Given the description of an element on the screen output the (x, y) to click on. 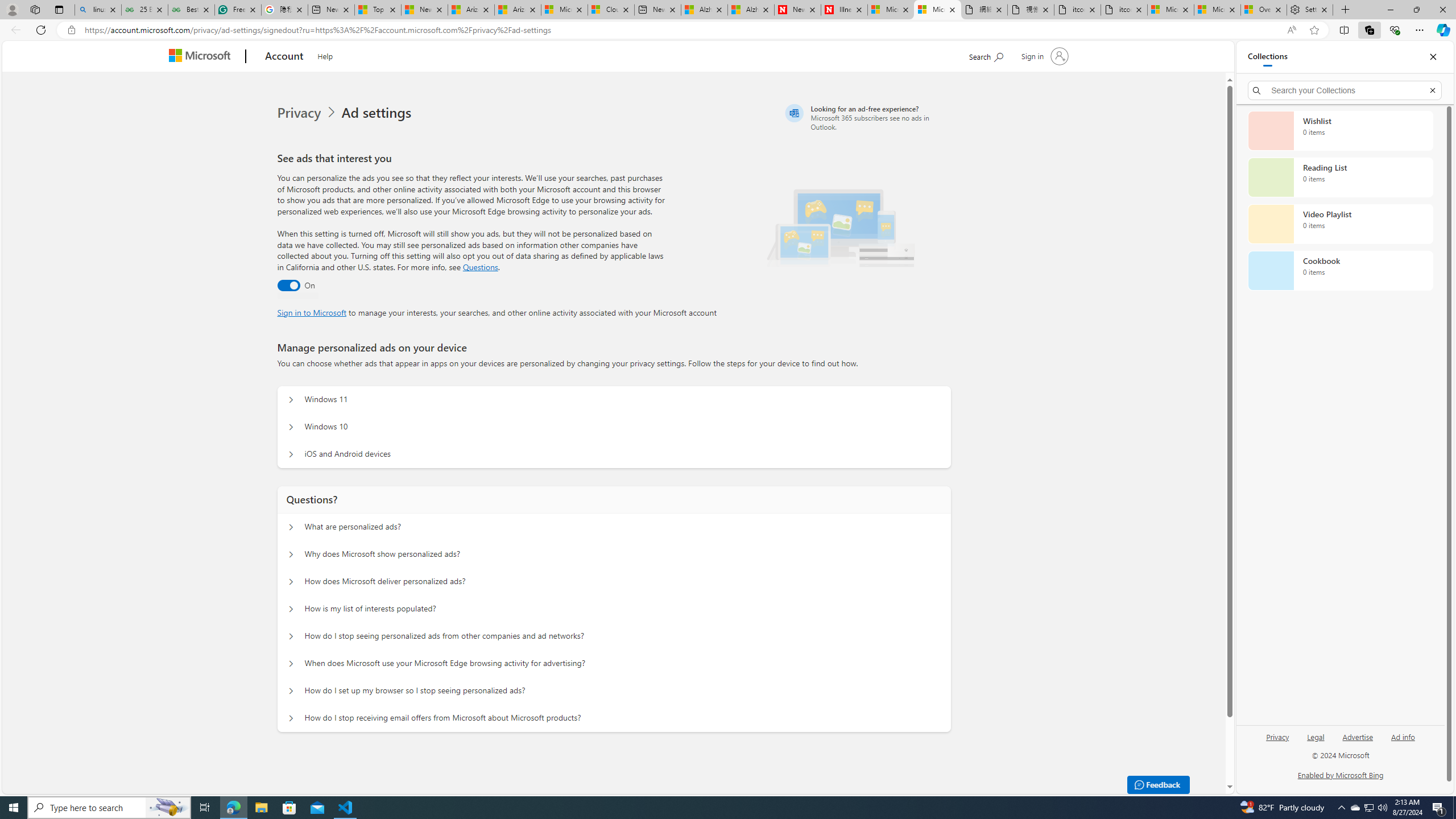
Sign in to Microsoft (311, 311)
Manage personalized ads on your device Windows 11 (290, 400)
Privacy (1277, 741)
Cloud Computing Services | Microsoft Azure (610, 9)
Go to Questions section (480, 266)
Top Stories - MSN (377, 9)
